Given the description of an element on the screen output the (x, y) to click on. 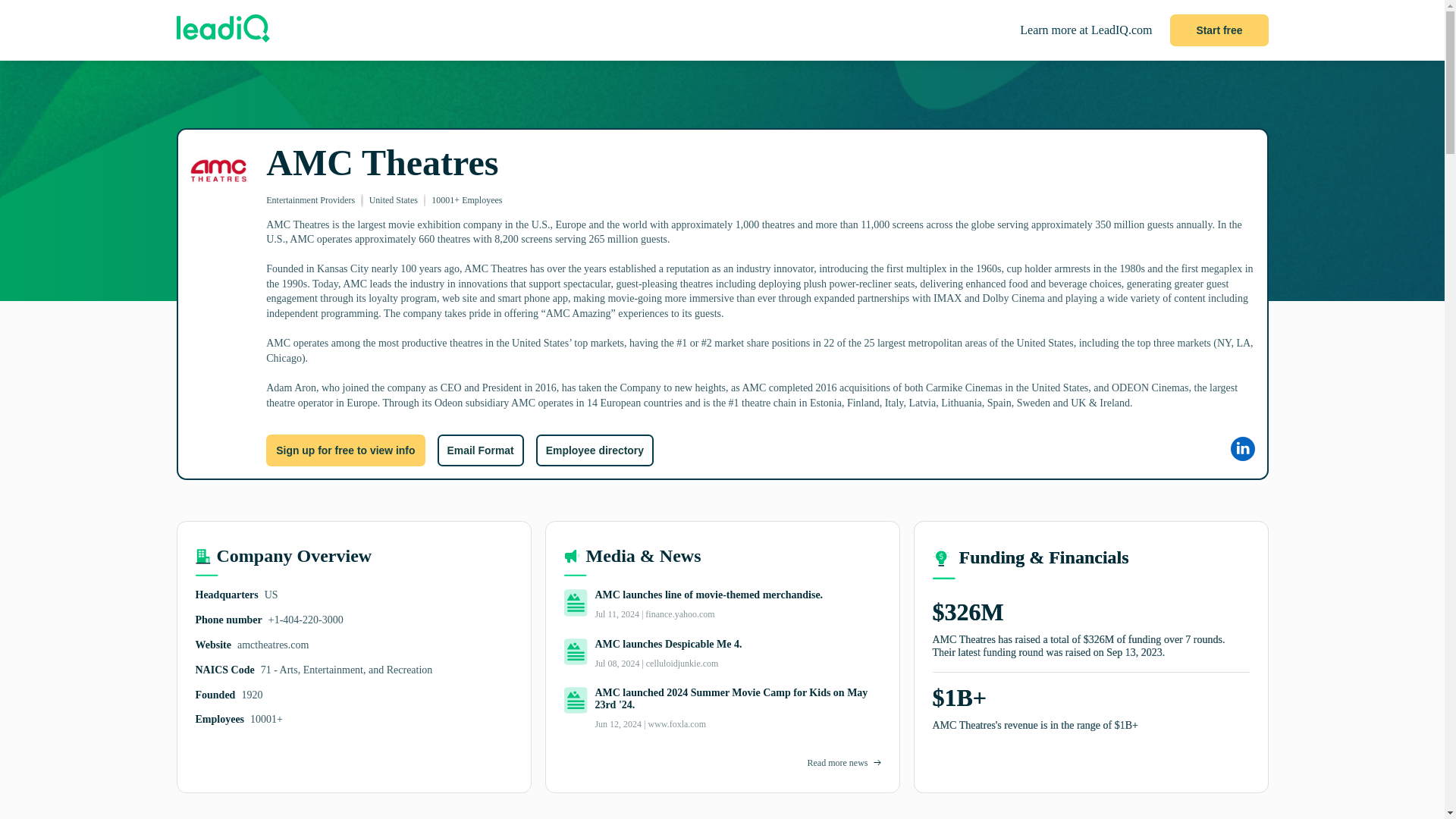
Employee directory (594, 450)
Sign up for free to view info (345, 450)
Learn more at LeadIQ.com (1085, 29)
amctheatres.com (272, 644)
Email Format (479, 450)
Start free (1219, 29)
